Given the description of an element on the screen output the (x, y) to click on. 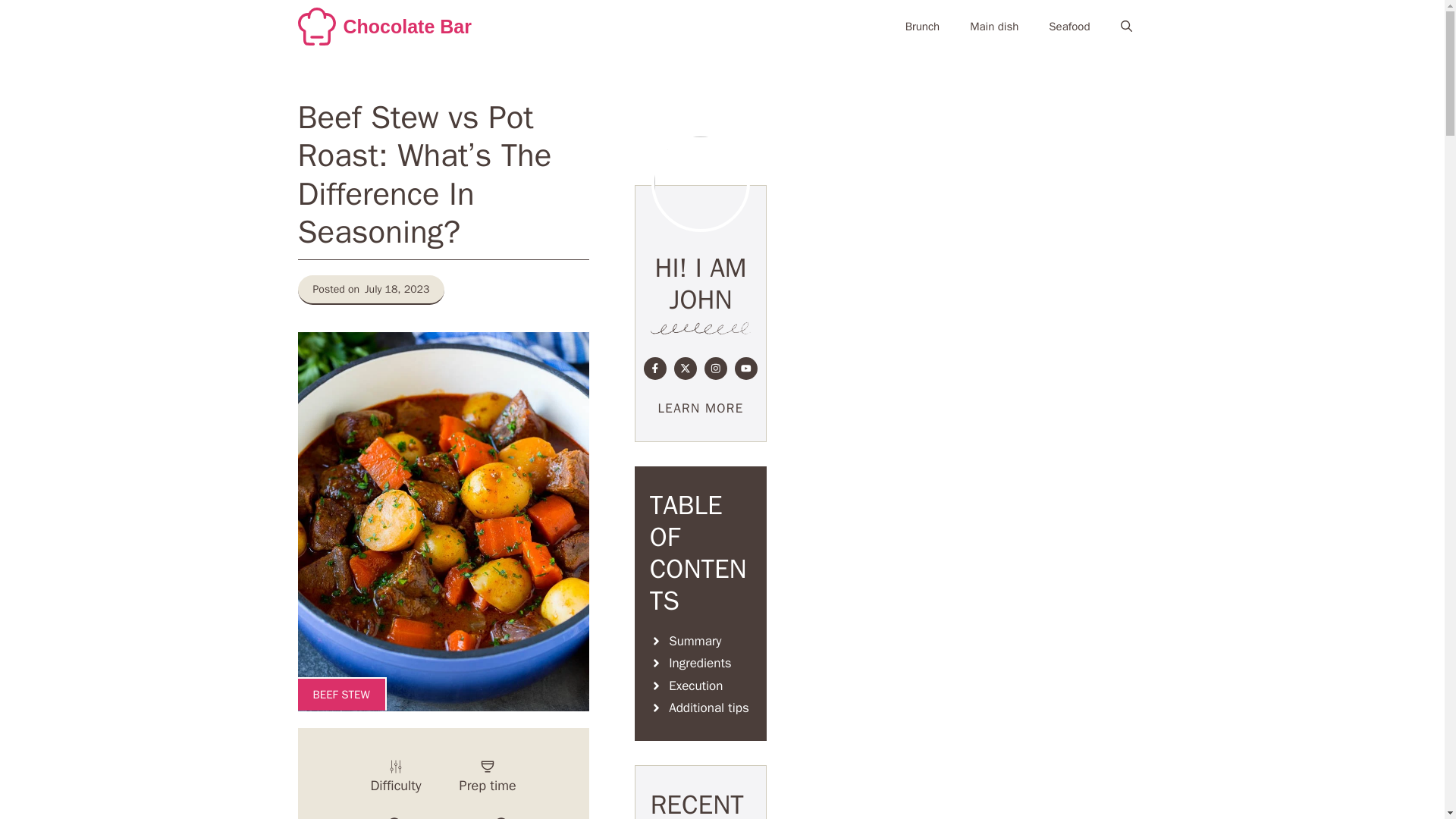
Ingredients (700, 663)
zigzag separator (700, 328)
Seafood (1069, 26)
Ingredients (700, 663)
Execution (700, 686)
Summary (700, 640)
Additional tips (700, 708)
LEARN MORE (700, 408)
Execution (700, 686)
Summary (700, 640)
Chocolate Bar (406, 26)
Additional tips (700, 708)
Brunch (922, 26)
Main dish (994, 26)
BEEF STEW (341, 694)
